Given the description of an element on the screen output the (x, y) to click on. 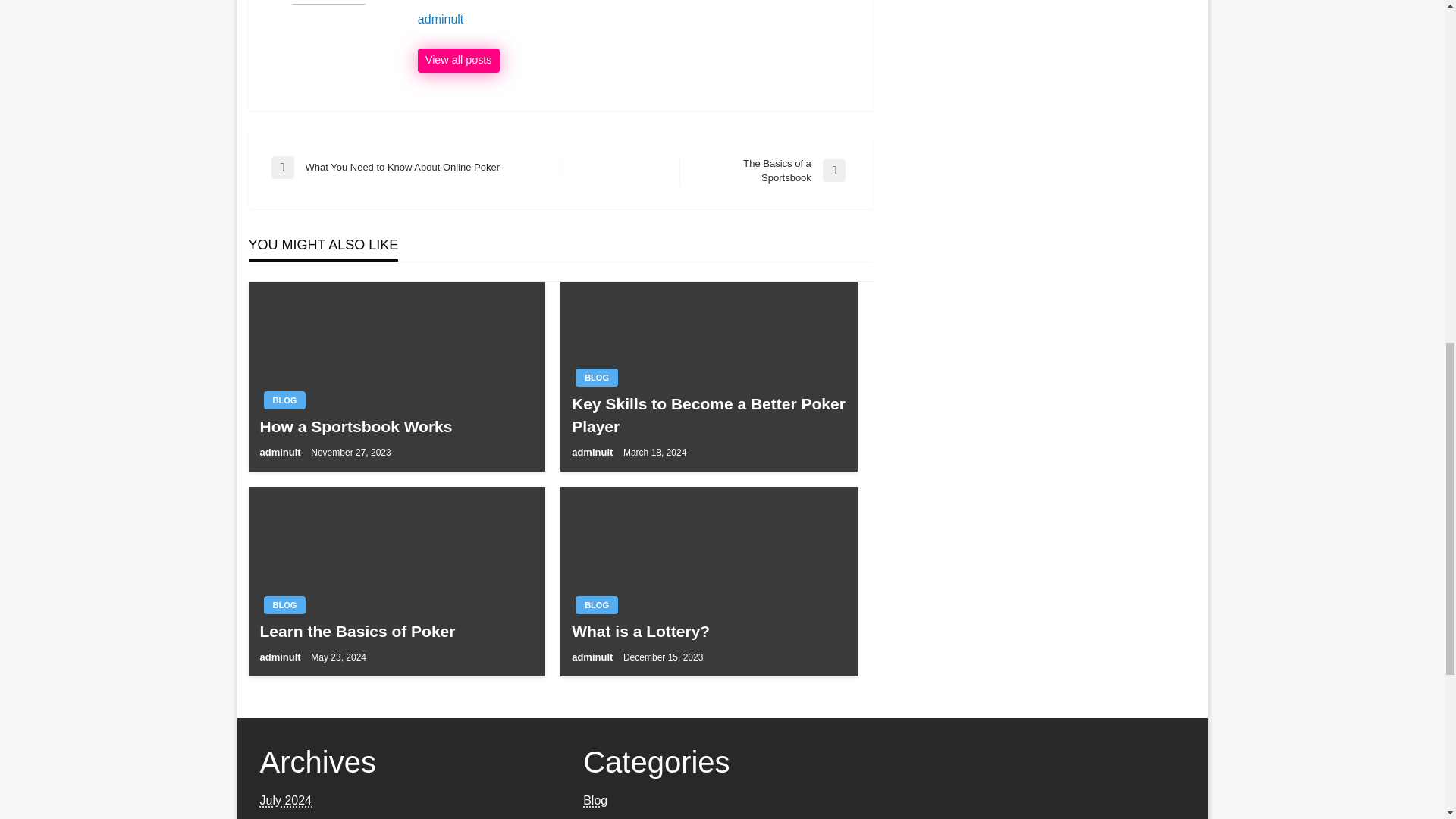
adminult (593, 656)
July 2024 (285, 799)
adminult (458, 60)
What is a Lottery? (708, 630)
BLOG (596, 605)
adminult (280, 656)
Learn the Basics of Poker (396, 630)
How a Sportsbook Works (396, 426)
Key Skills to Become a Better Poker Player (708, 415)
